Given the description of an element on the screen output the (x, y) to click on. 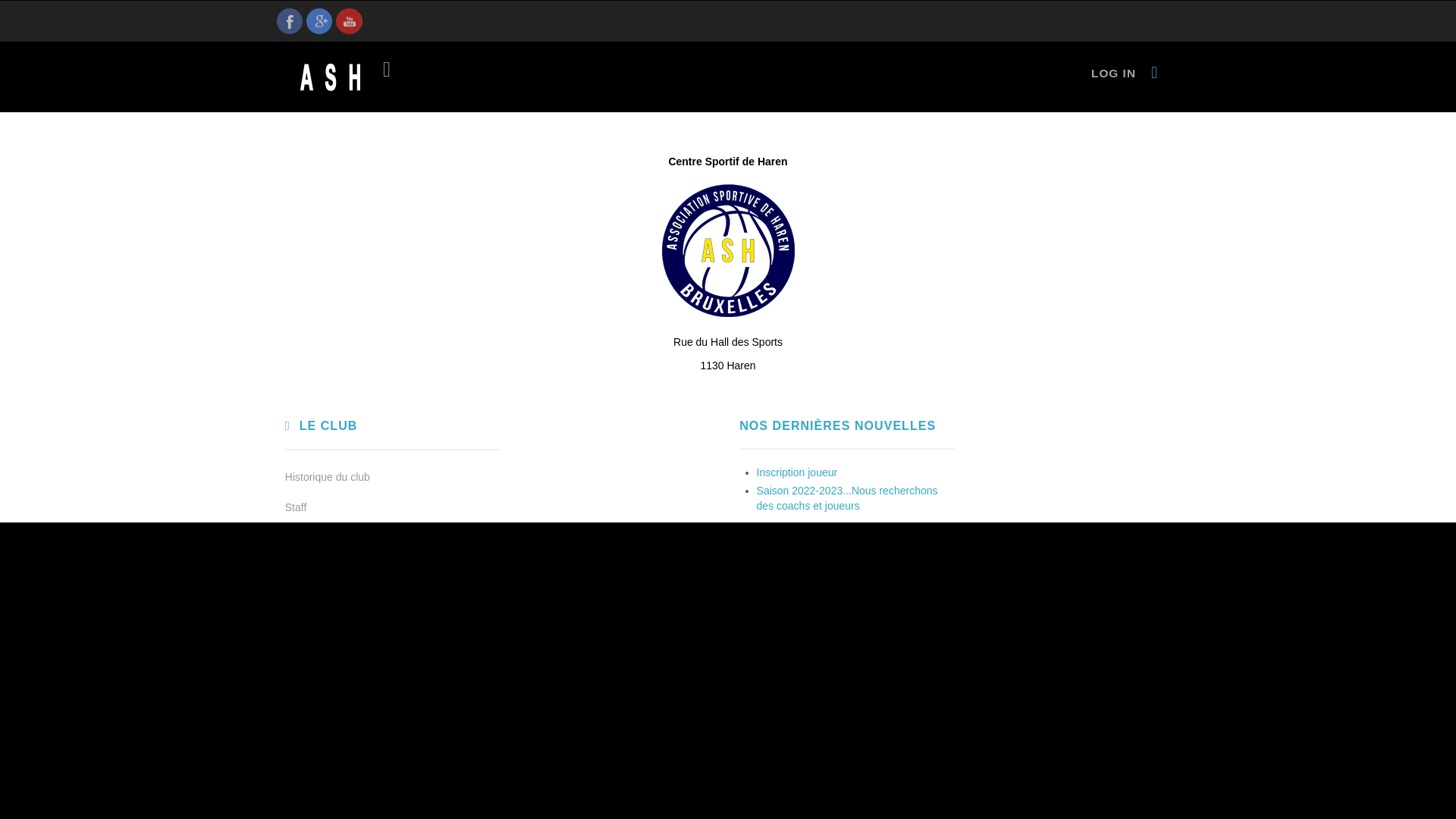
Staff Element type: text (392, 507)
Saison 2022-2023...Nous recherchons des coachs et joueurs Element type: text (847, 497)
Inscription joueur Element type: text (796, 472)
YouTube Element type: text (348, 21)
Facebook Element type: text (289, 21)
Historique du club Element type: text (392, 476)
Google+ Element type: text (319, 21)
